Given the description of an element on the screen output the (x, y) to click on. 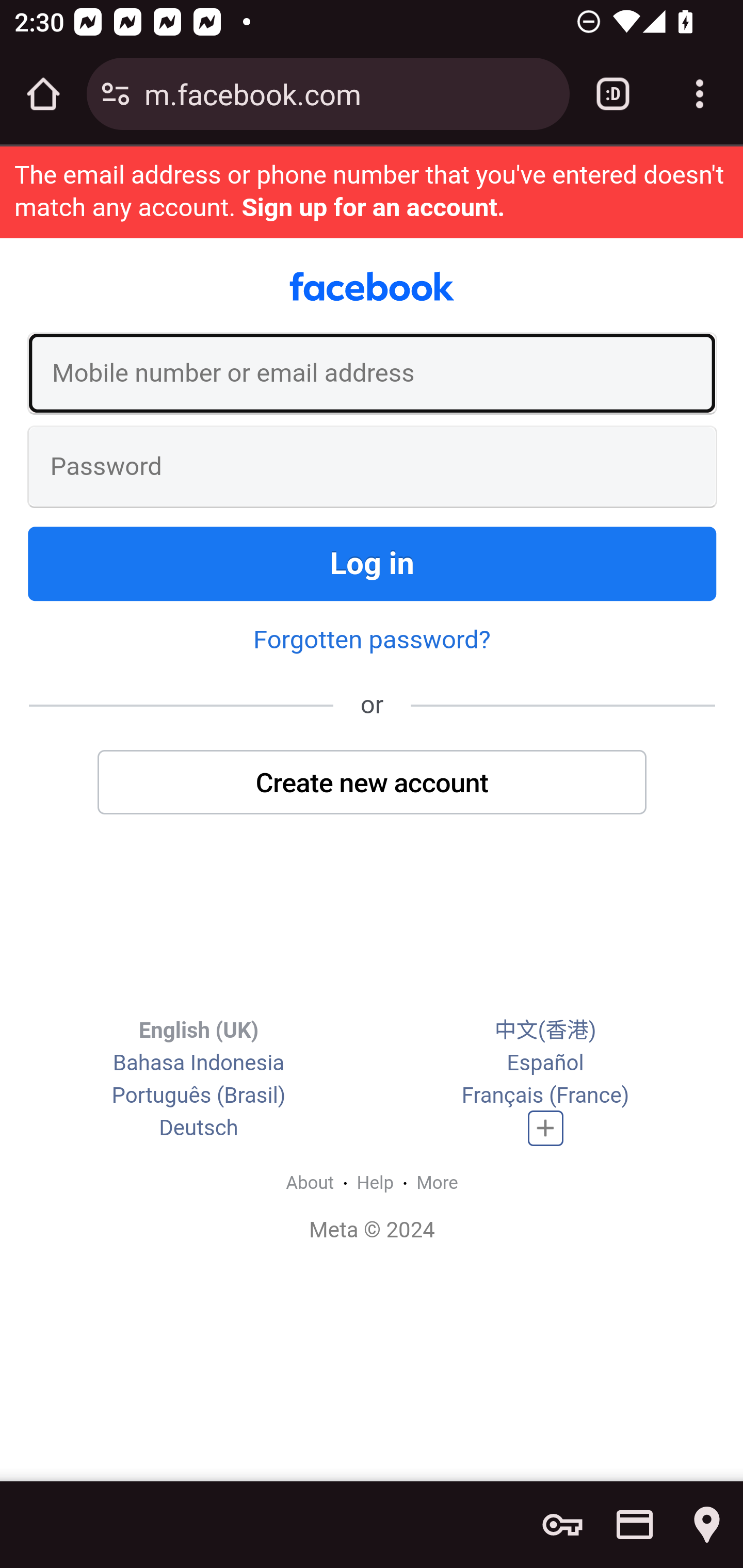
Open the home page (43, 93)
Connection is secure (115, 93)
Switch or close tabs (612, 93)
Customize and control Google Chrome (699, 93)
m.facebook.com (349, 92)
Sign up for an account. (372, 207)
facebook (372, 286)
Log in (372, 563)
Forgotten password? (371, 639)
Create new account (372, 782)
中文(香港) (544, 1030)
Bahasa Indonesia (198, 1061)
Español (545, 1061)
Português (Brasil) (197, 1094)
Français (France) (544, 1094)
Complete list of languages (545, 1127)
Deutsch (198, 1127)
About (310, 1181)
Help (375, 1181)
Show saved passwords and password options (562, 1524)
Show saved payment methods (634, 1524)
Show saved addresses (706, 1524)
